Given the description of an element on the screen output the (x, y) to click on. 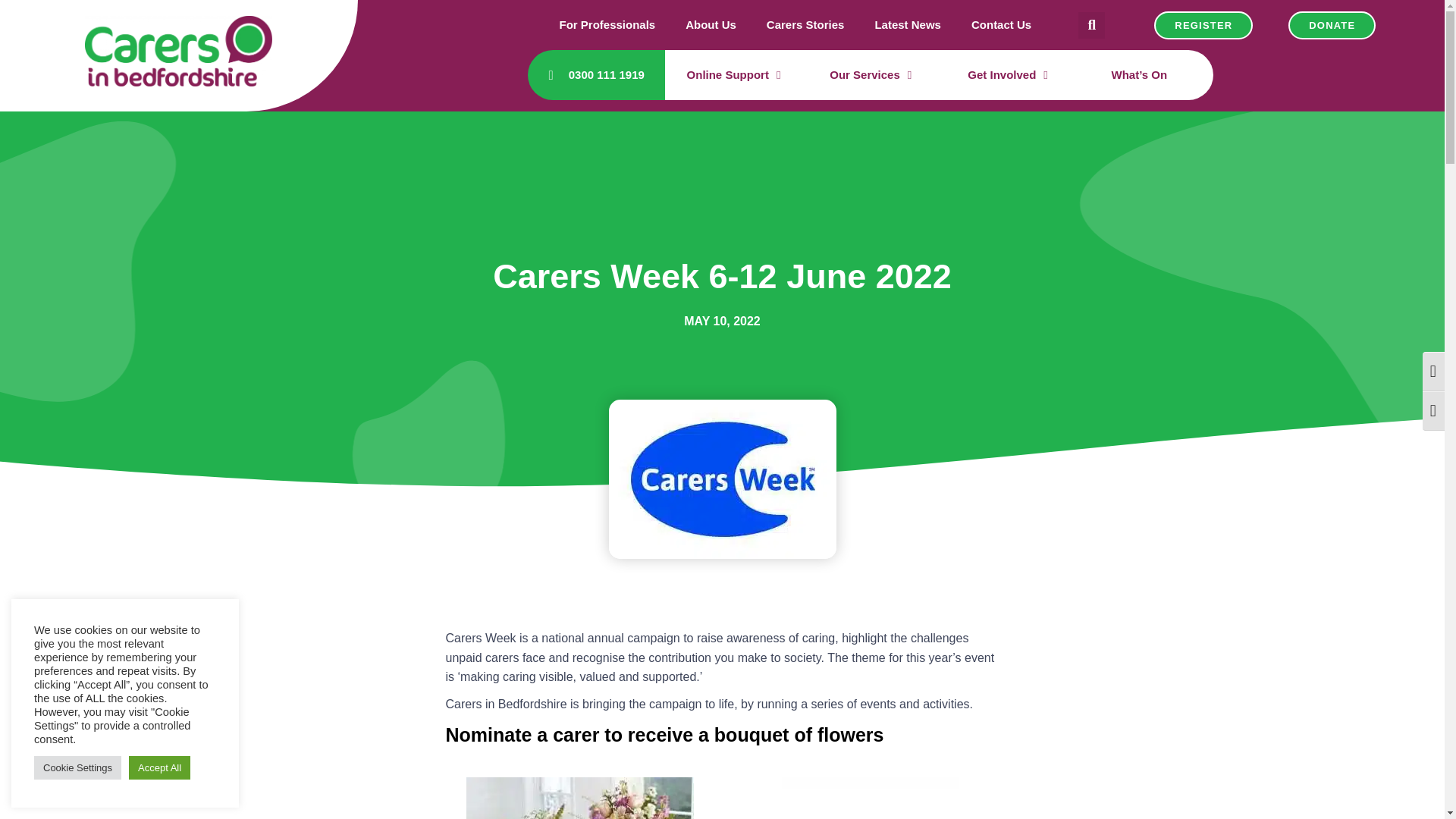
Carers Stories (805, 24)
Latest News (907, 24)
Our Services (869, 74)
REGISTER (1203, 24)
0300 111 1919 (596, 75)
Online Support (733, 74)
About Us (710, 24)
For Professionals (606, 24)
Contact Us (1001, 24)
DONATE (1331, 24)
